Given the description of an element on the screen output the (x, y) to click on. 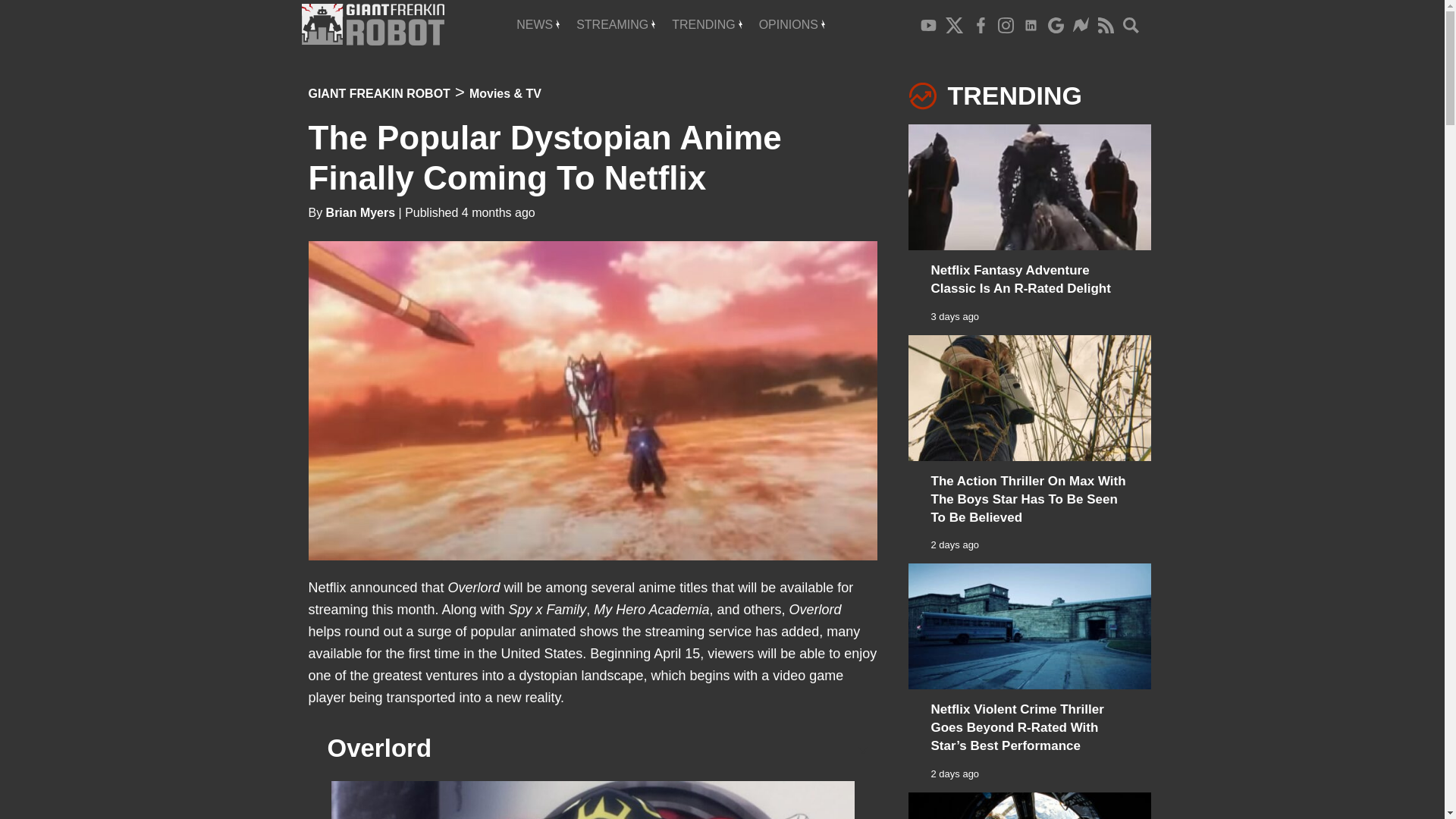
Trending (706, 24)
Streaming (615, 24)
OPINIONS (791, 24)
GIANT FREAKIN ROBOT (378, 92)
TRENDING (706, 24)
The Popular Dystopian Anime Finally Coming To Netflix (543, 157)
Entertainment News (537, 24)
STREAMING (615, 24)
Brian Myers (361, 212)
NEWS (537, 24)
